Given the description of an element on the screen output the (x, y) to click on. 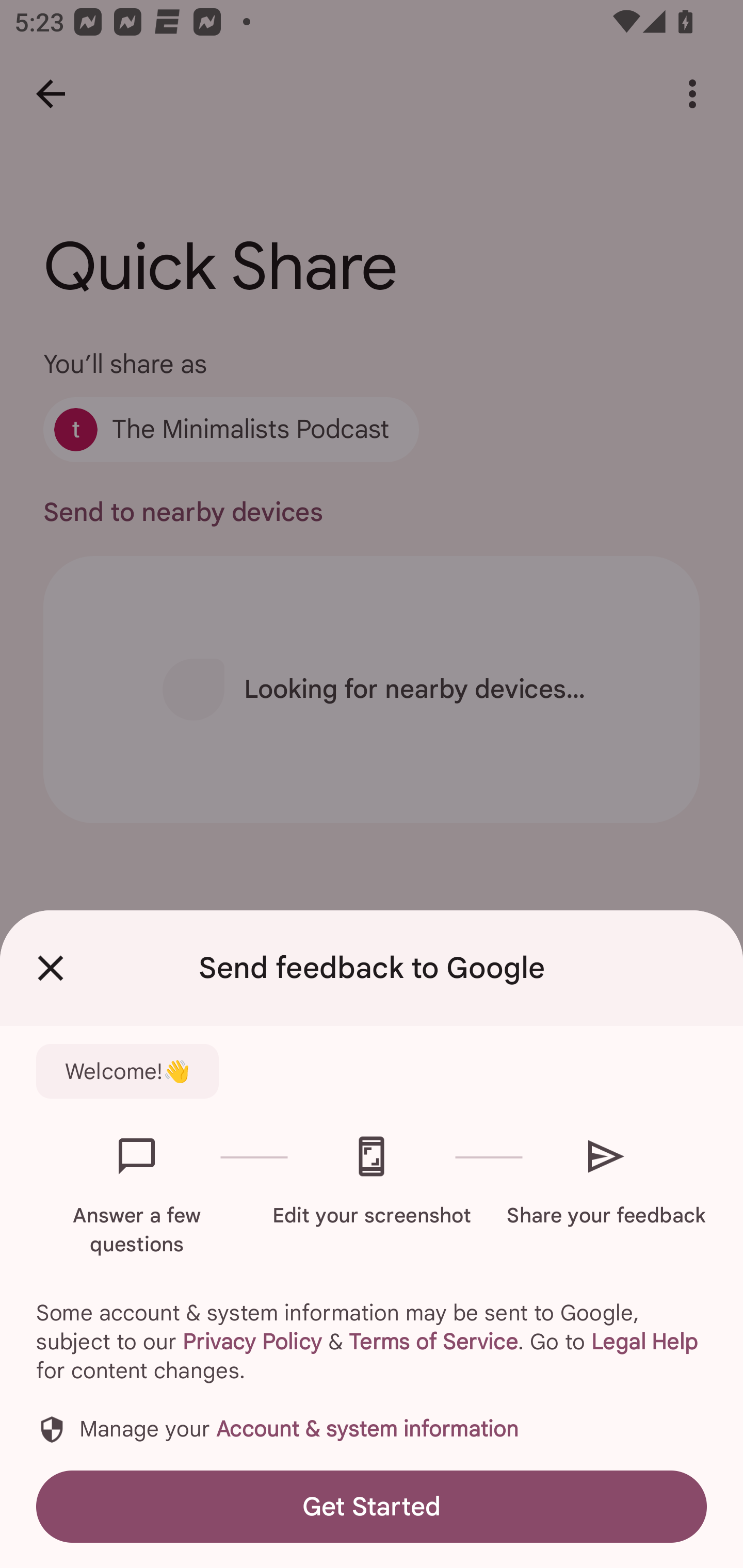
Close Feedback (50, 968)
Get Started (371, 1505)
